Given the description of an element on the screen output the (x, y) to click on. 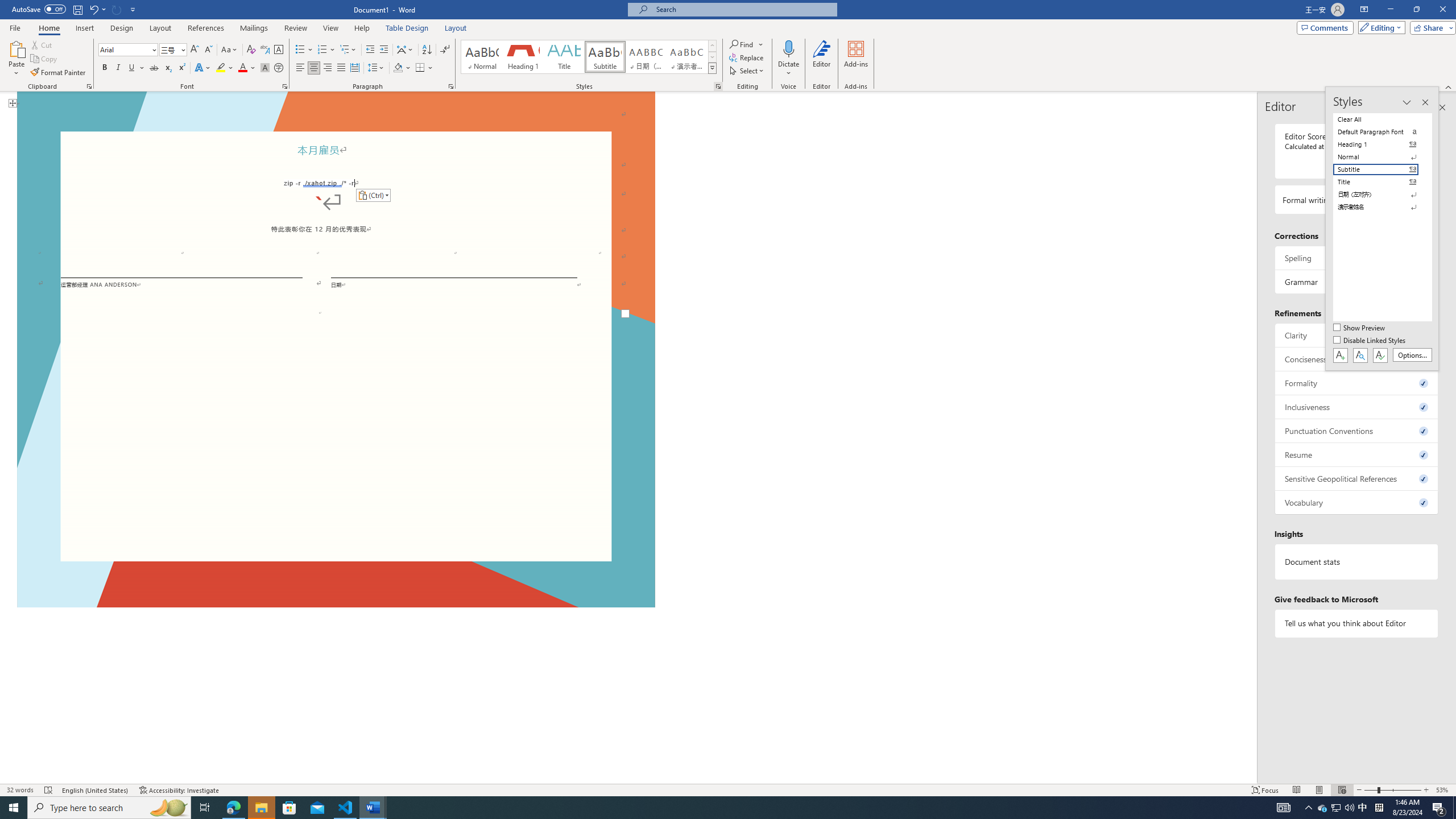
Show Preview (1360, 328)
AutomationID: QuickStylesGallery (588, 56)
Undo Paste (96, 9)
